Given the description of an element on the screen output the (x, y) to click on. 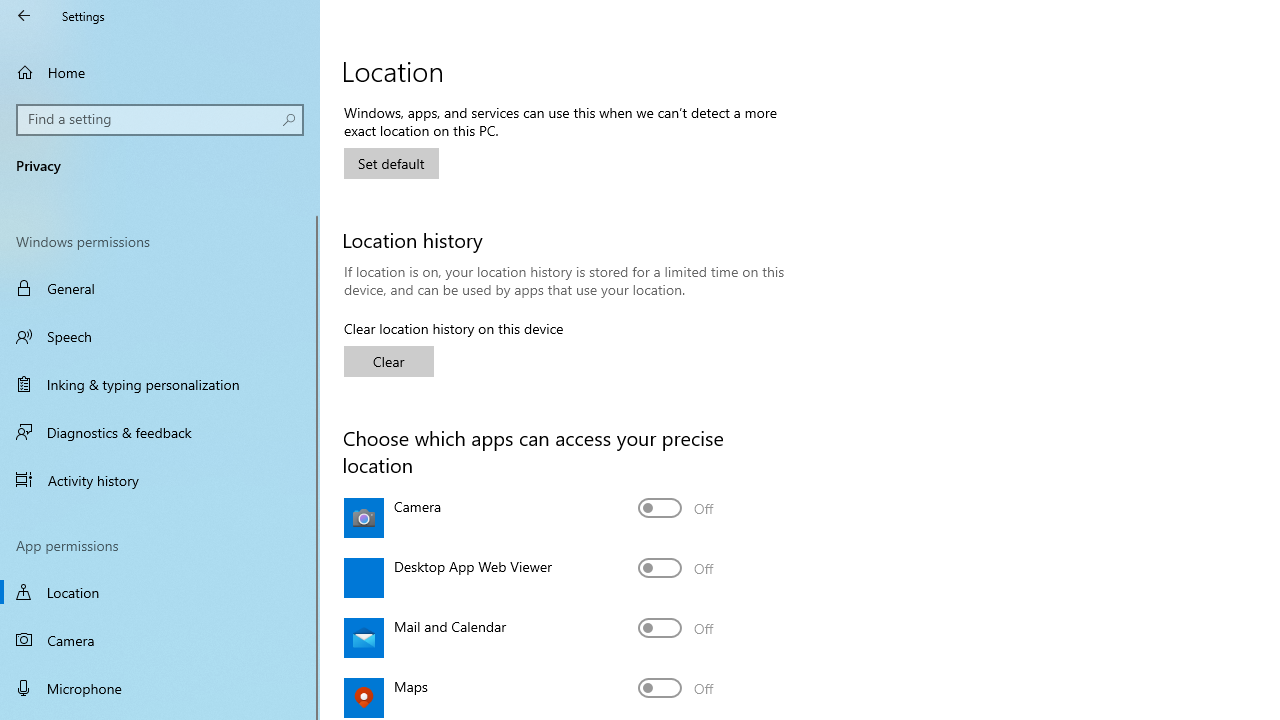
Desktop App Web Viewer (675, 567)
Clear (388, 361)
Location (160, 592)
Camera (675, 507)
Camera (160, 639)
Set default (391, 163)
General (160, 287)
Mail and Calendar (675, 627)
Home (160, 71)
Maps (675, 687)
Search box, Find a setting (160, 119)
Speech (160, 335)
Back (24, 15)
Activity history (160, 479)
Inking & typing personalization (160, 384)
